Given the description of an element on the screen output the (x, y) to click on. 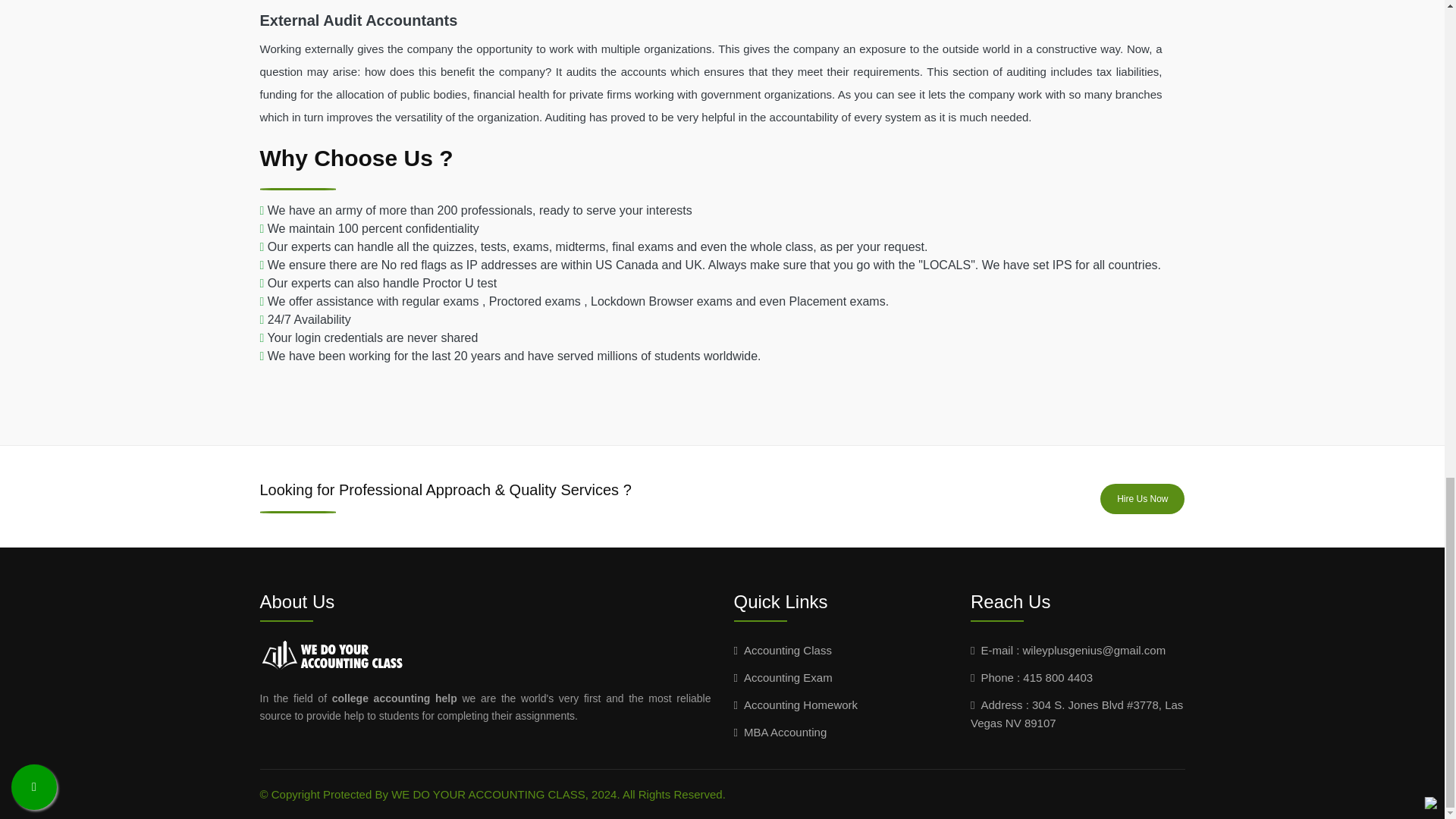
Accounting Homework (796, 703)
Hire Us Now (1142, 499)
Accounting Class (782, 649)
MBA Accounting (780, 730)
Phone : 415 800 4403 (1032, 676)
Accounting Exam (782, 676)
